Given the description of an element on the screen output the (x, y) to click on. 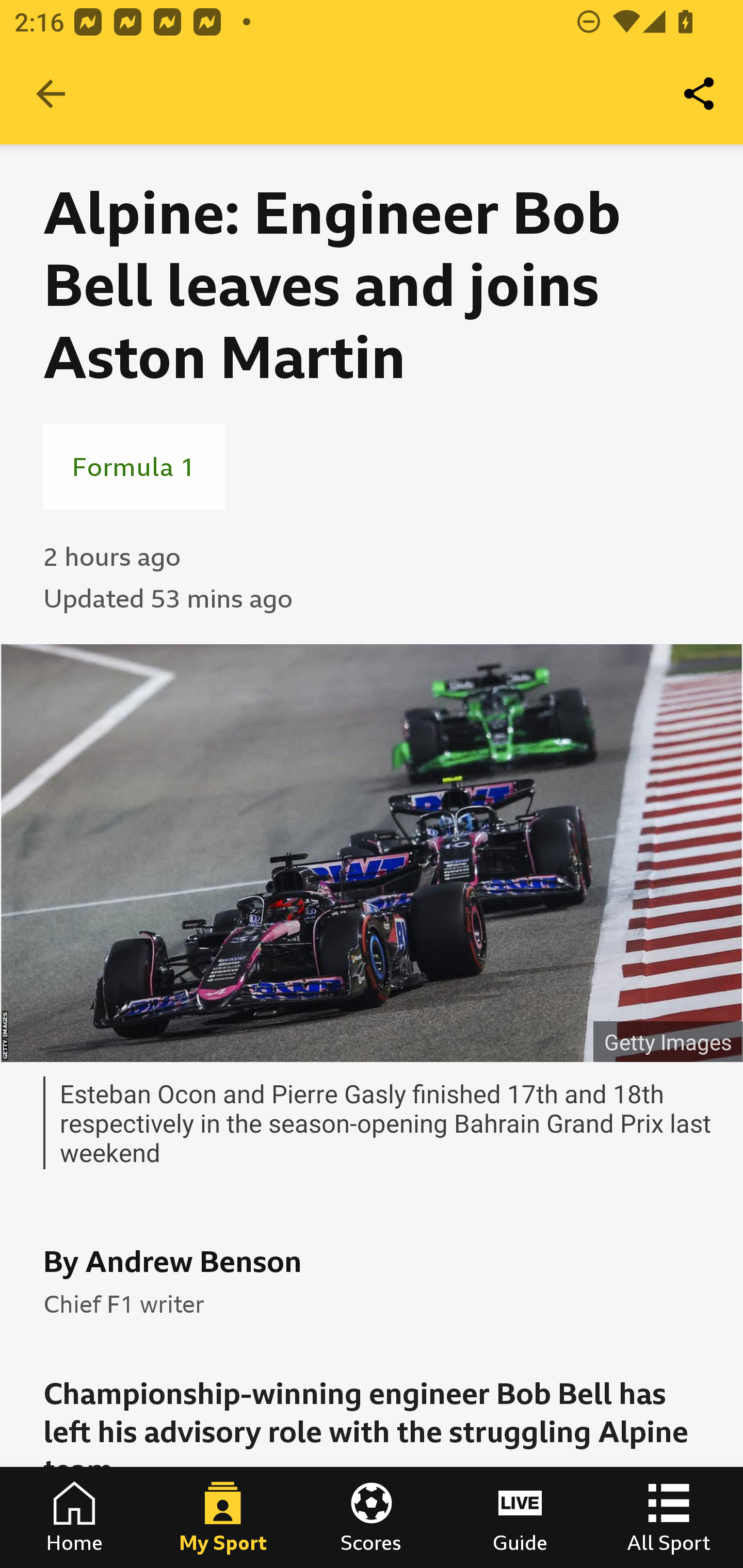
Navigate up (50, 93)
Share (699, 93)
Formula 1 (134, 466)
Home (74, 1517)
Scores (371, 1517)
Guide (519, 1517)
All Sport (668, 1517)
